Given the description of an element on the screen output the (x, y) to click on. 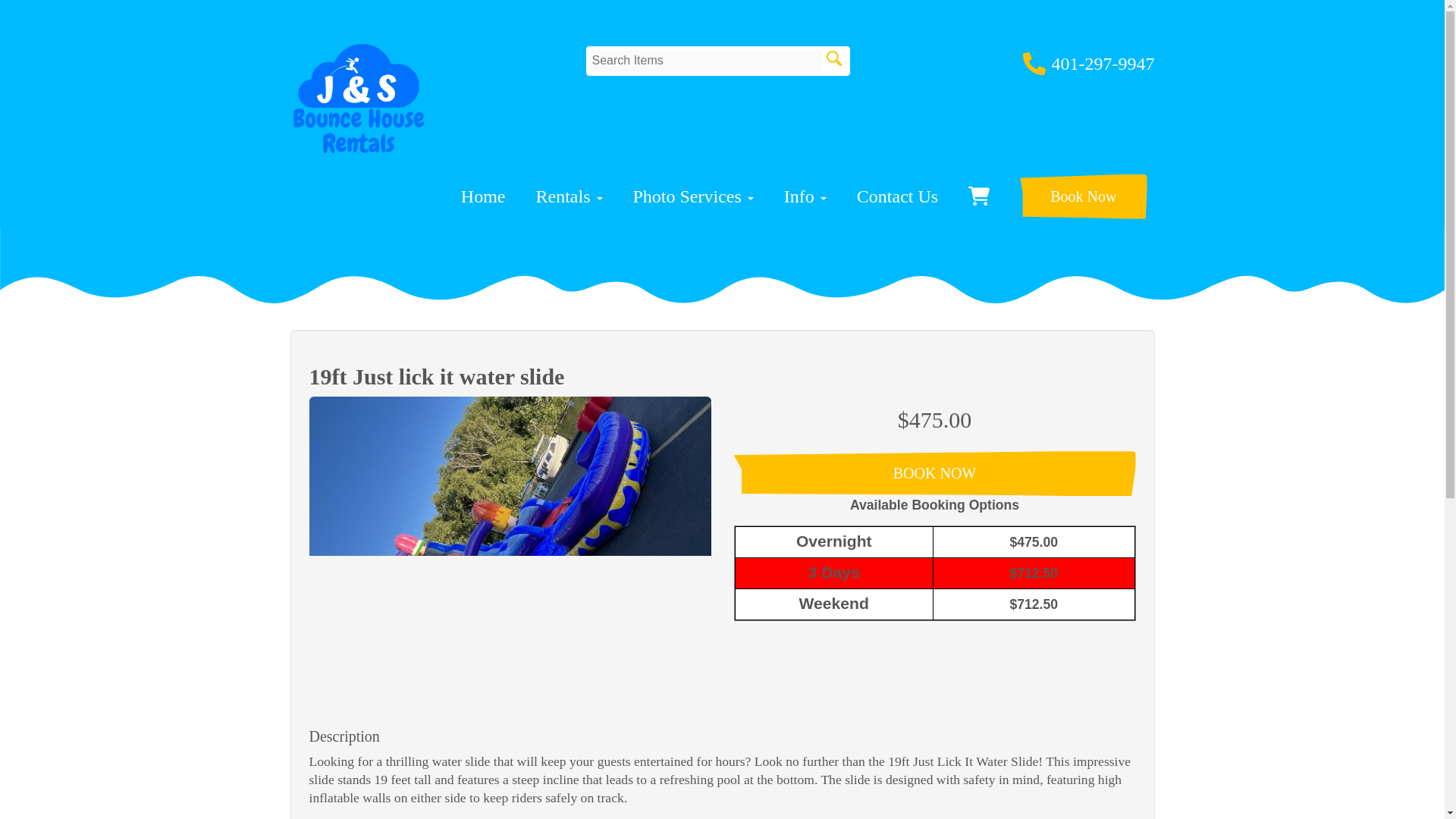
Contact Us (897, 196)
Rentals (568, 196)
19ft Just lick it water slide (509, 546)
Info (805, 196)
Photo Services (691, 196)
Home (483, 196)
Book Now (1083, 196)
401-297-9947 (1102, 63)
